Given the description of an element on the screen output the (x, y) to click on. 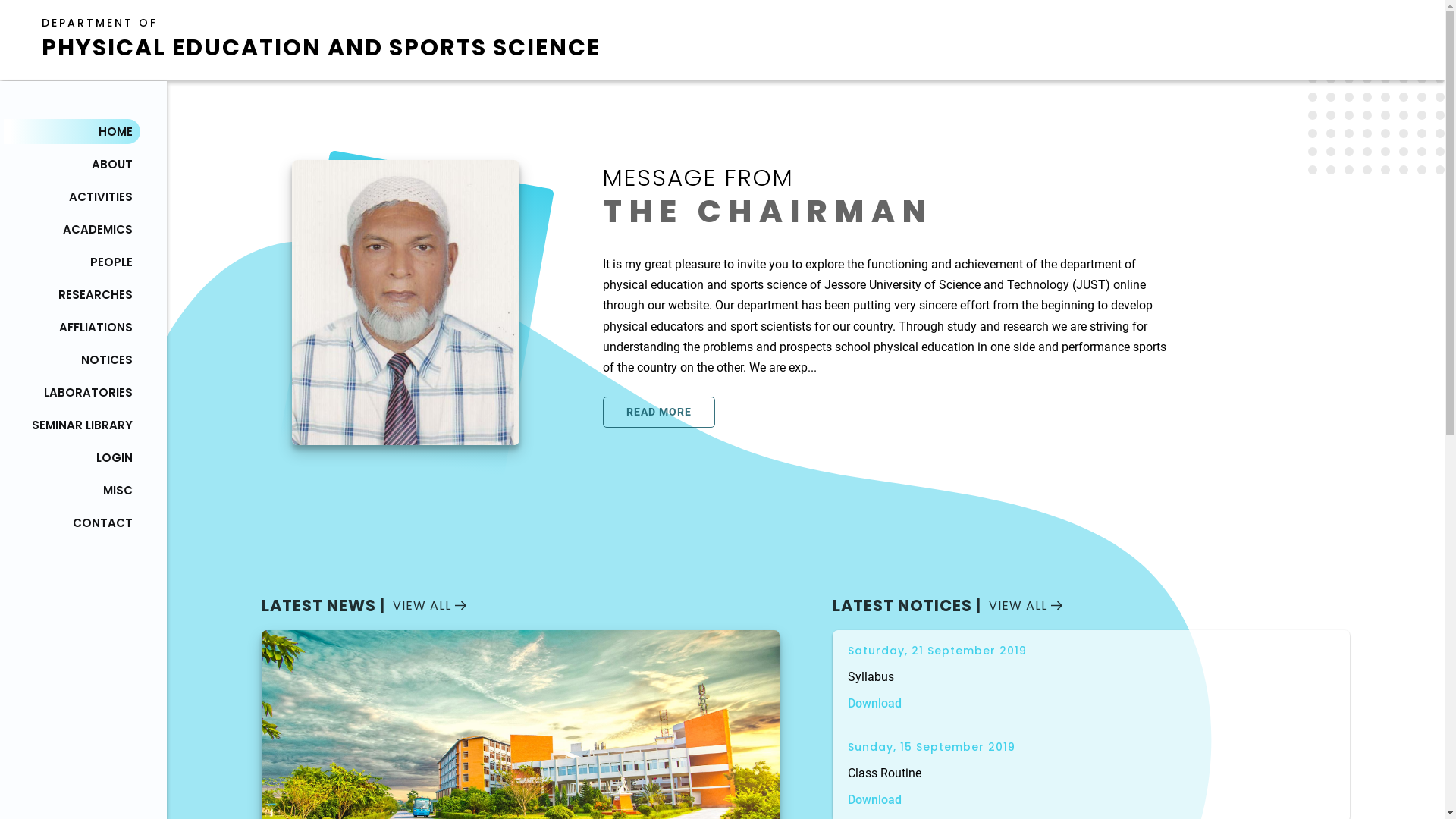
SEMINAR LIBRARY Element type: text (71, 424)
PEOPLE Element type: text (71, 261)
Download Element type: text (874, 799)
ACTIVITIES Element type: text (71, 196)
VIEW ALL Element type: text (429, 605)
CONTACT Element type: text (71, 522)
HOME Element type: text (71, 131)
DEPARTMENT OF
PHYSICAL EDUCATION AND SPORTS SCIENCE Element type: text (320, 40)
VIEW ALL Element type: text (1025, 605)
READ MORE Element type: text (658, 415)
LOGIN Element type: text (71, 457)
NOTICES Element type: text (71, 359)
LABORATORIES Element type: text (71, 391)
ABOUT Element type: text (71, 163)
AFFLIATIONS Element type: text (71, 326)
RESEARCHES Element type: text (71, 294)
MISC Element type: text (71, 489)
ACADEMICS Element type: text (71, 228)
Download Element type: text (874, 702)
READ MORE Element type: text (658, 411)
